Given the description of an element on the screen output the (x, y) to click on. 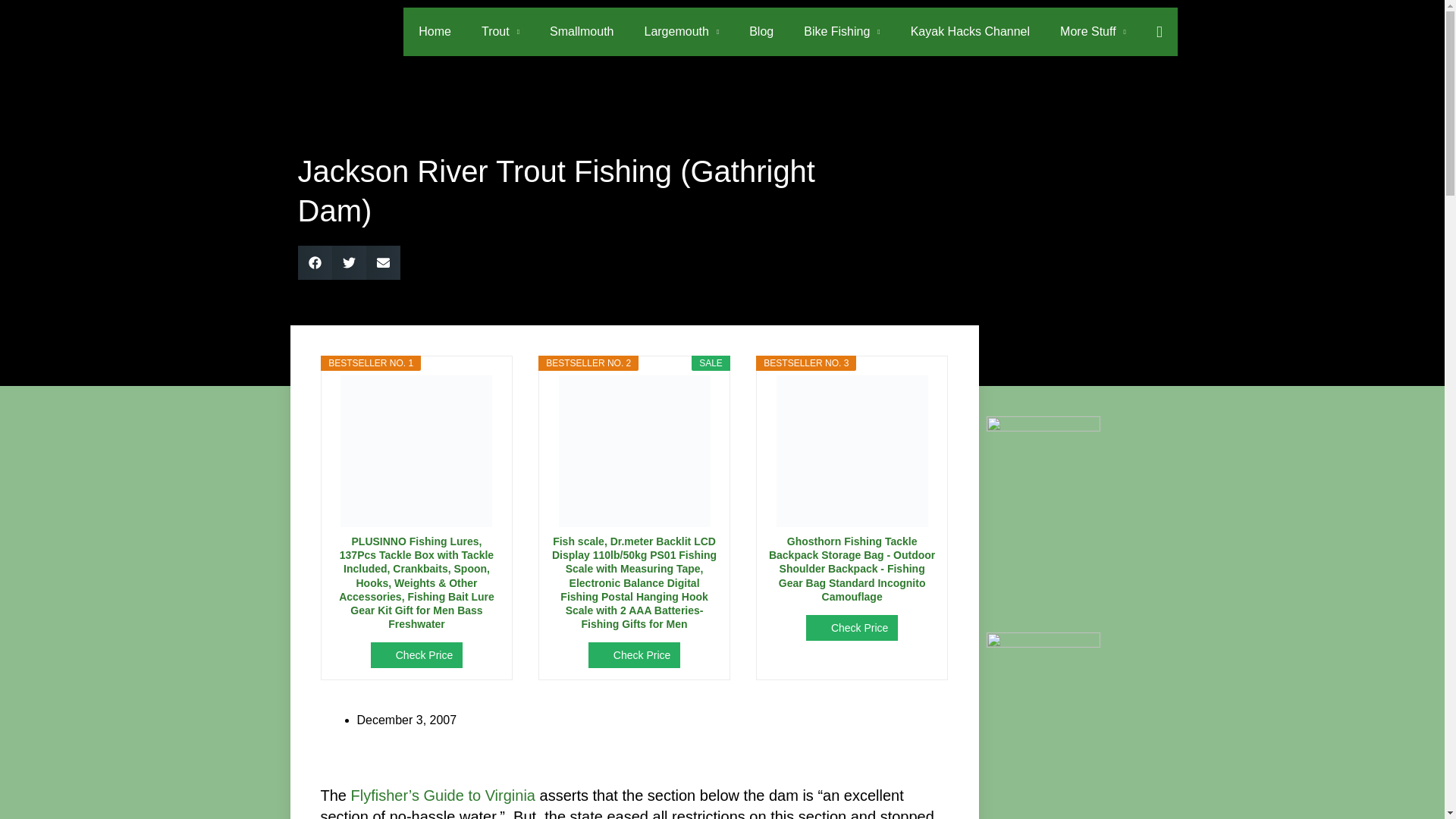
Kayak Hacks Channel (970, 31)
Trout (499, 31)
Check Price (852, 627)
More Stuff (1093, 31)
Home (434, 31)
Check Price (852, 627)
Check Price (633, 655)
Largemouth (680, 31)
Check Price (417, 655)
Smallmouth (581, 31)
Check Price (417, 655)
Bike Fishing (842, 31)
